Given the description of an element on the screen output the (x, y) to click on. 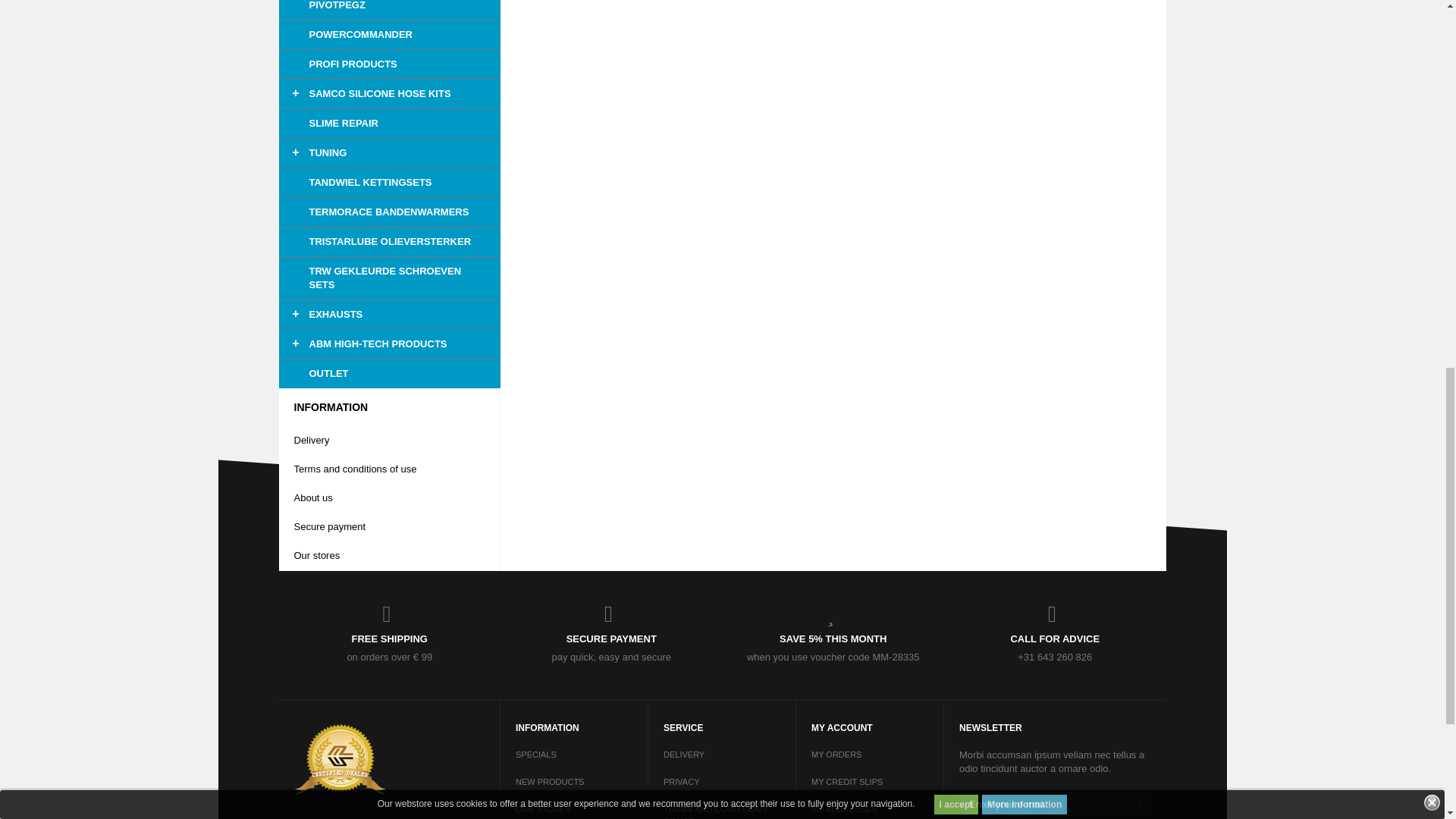
Enter your e-mail (1055, 804)
